Given the description of an element on the screen output the (x, y) to click on. 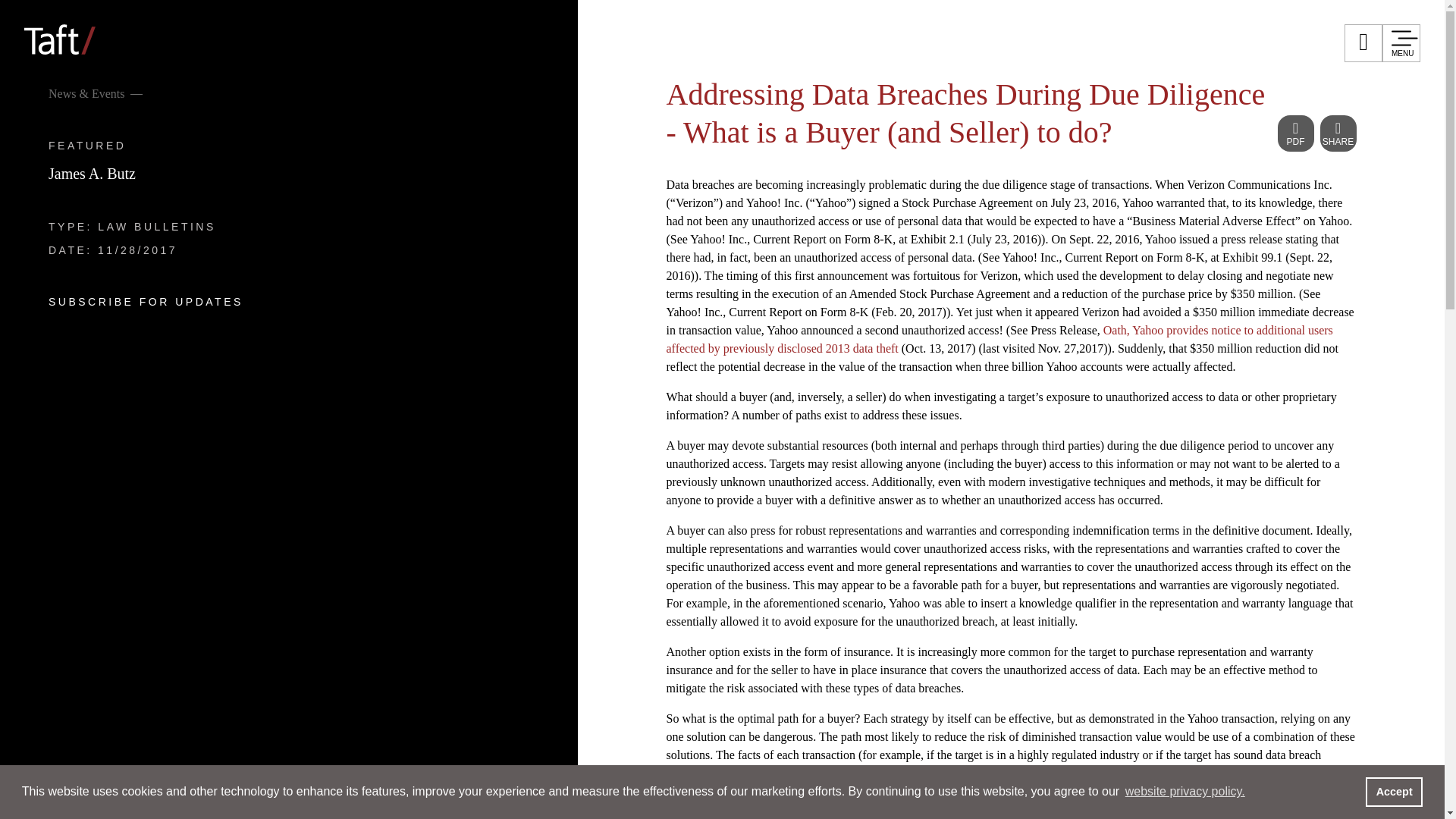
SUBSCRIBE FOR UPDATES (145, 302)
website privacy policy. (1184, 791)
James A. Butz (91, 173)
Accept (1393, 791)
MENU (1401, 43)
